Given the description of an element on the screen output the (x, y) to click on. 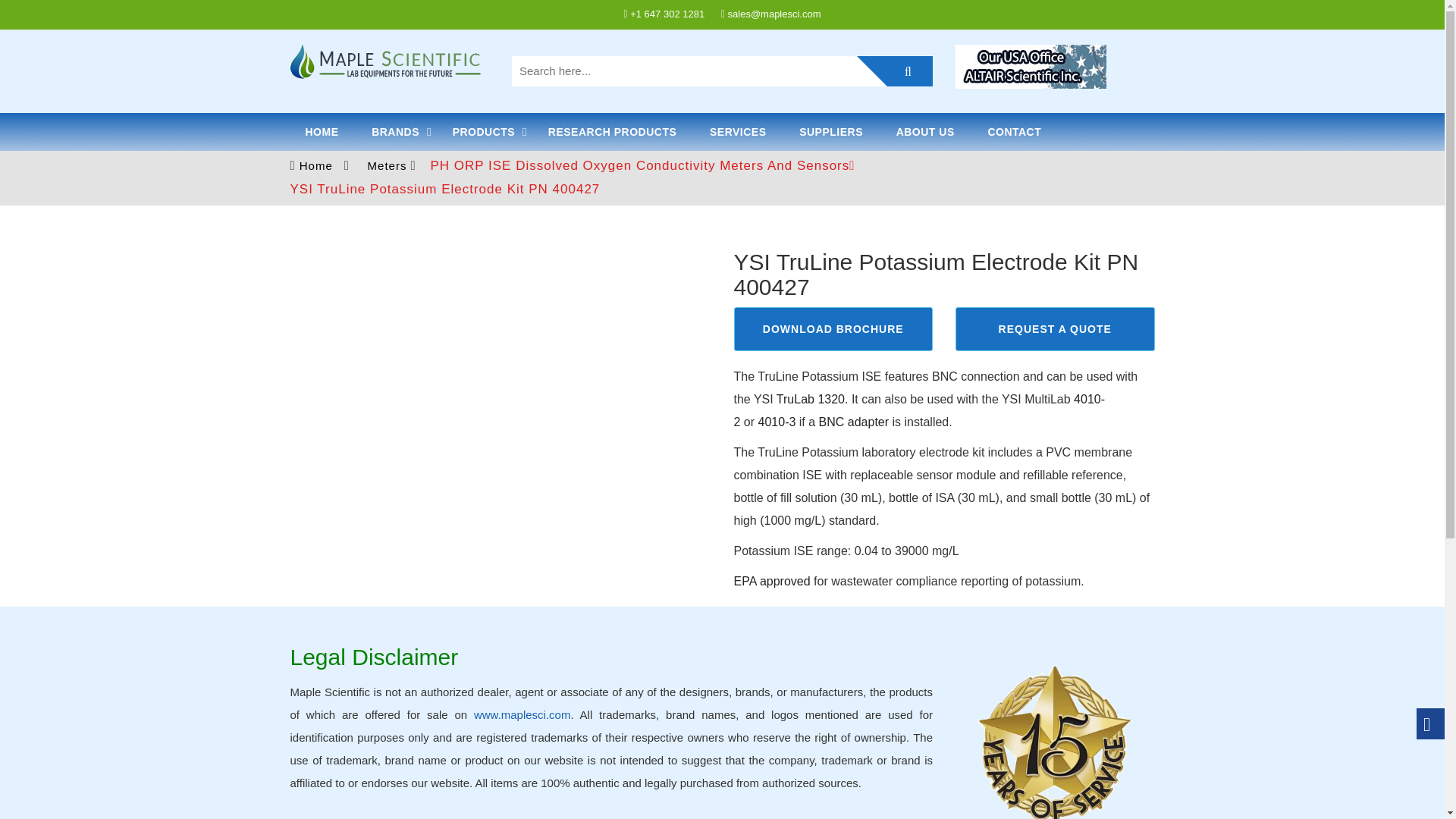
SUPPLIERS (830, 131)
search (895, 71)
ABOUT US (924, 131)
HOME (321, 131)
CONTACT (1014, 131)
PRODUCTS (484, 131)
SERVICES (737, 131)
RESEARCH PRODUCTS (612, 131)
BRANDS (394, 131)
